Given the description of an element on the screen output the (x, y) to click on. 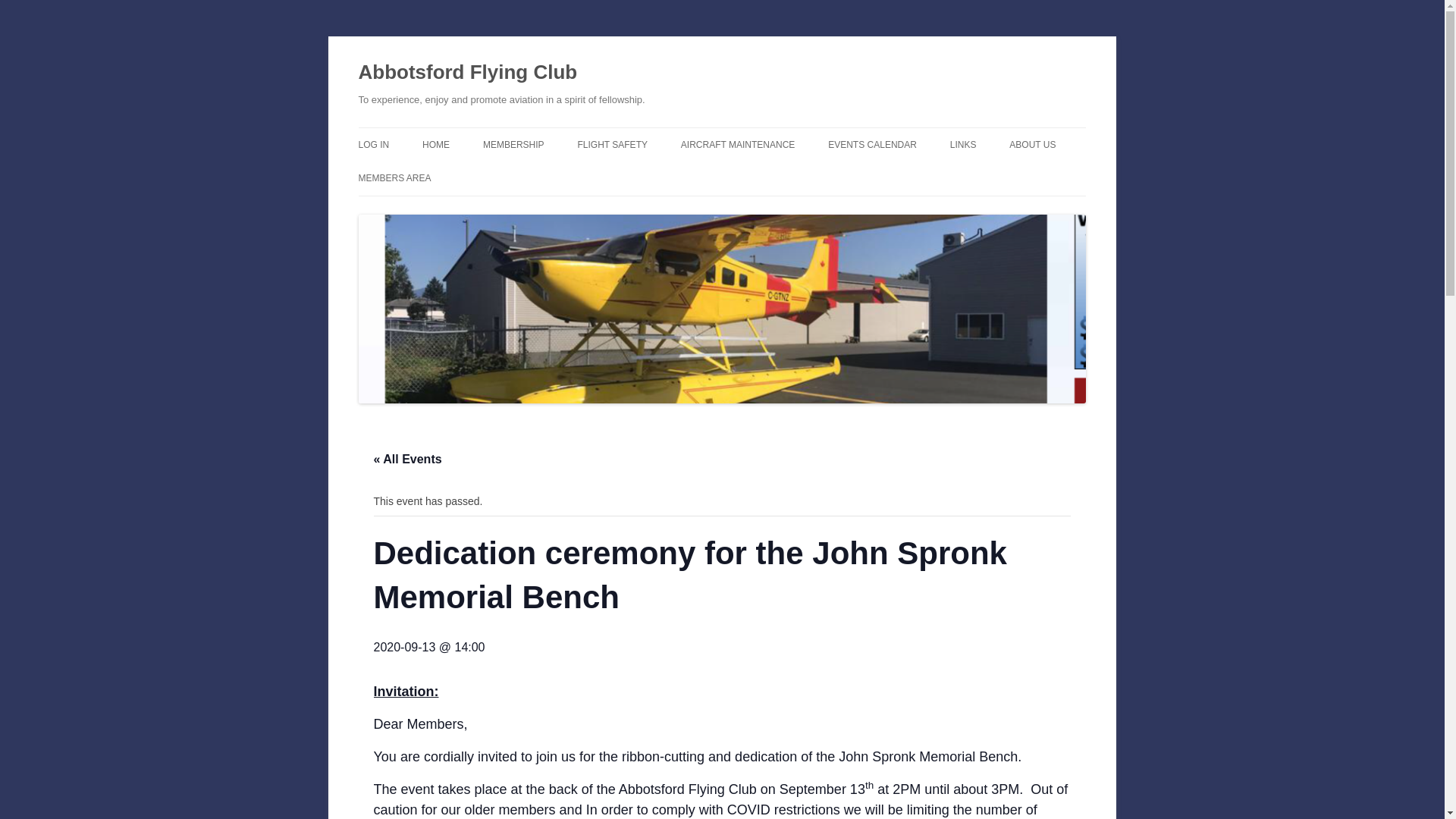
MEMBERSHIP (513, 144)
LOG IN (373, 144)
MINUTES (433, 210)
CONTACT US (1084, 176)
MEMBERS AREA (394, 177)
Abbotsford Flying Club (467, 72)
AFC PRESENTER SCHEDULE (903, 176)
EVENTS CALENDAR (872, 144)
FLIGHT SAFETY (612, 144)
Abbotsford Flying Club (467, 72)
ABOUT US (1032, 144)
AIRCRAFT MAINTENANCE (737, 144)
